Given the description of an element on the screen output the (x, y) to click on. 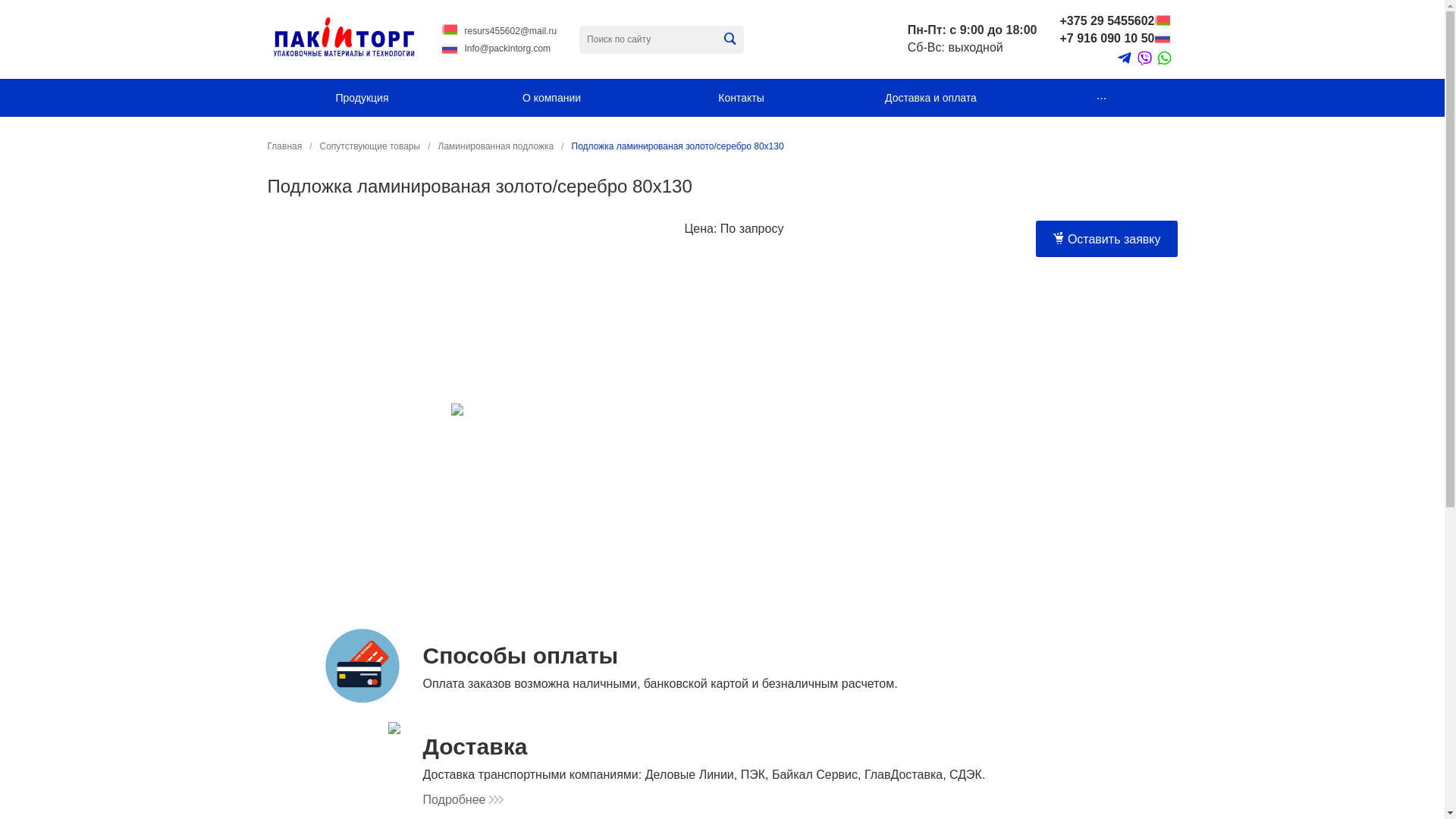
Viber Element type: hover (1144, 58)
+375 29 5455602 Element type: text (1106, 21)
Telegram Element type: hover (1124, 58)
WhatsApp Element type: hover (1163, 58)
... Element type: text (1100, 97)
Info@packintorg.com Element type: text (507, 48)
